Given the description of an element on the screen output the (x, y) to click on. 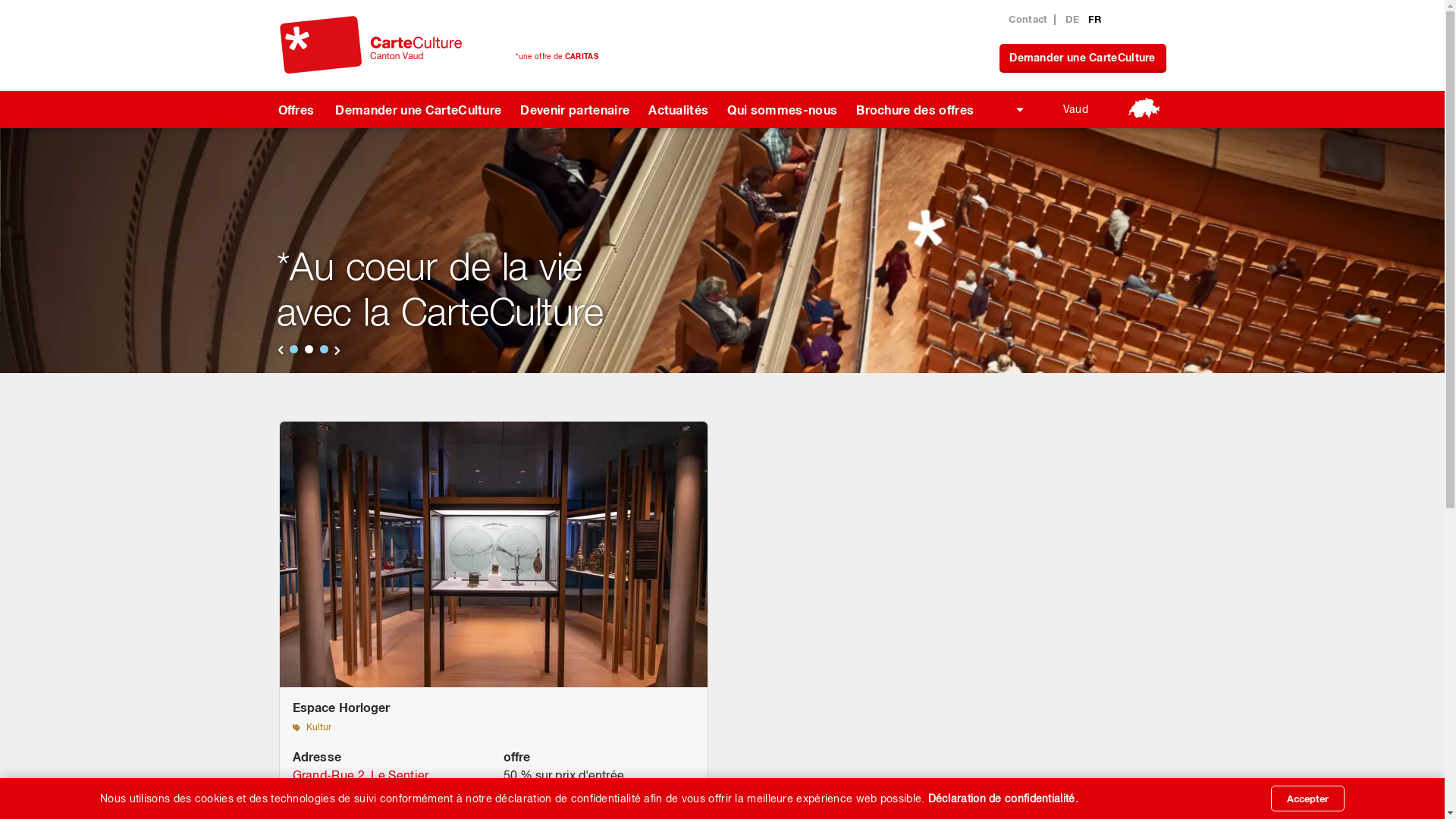
Brochure des offres Element type: text (912, 109)
Grand-Rue 2, Le Sentier Element type: text (360, 774)
Devenir partenaire Element type: text (572, 109)
Qui sommes-nous Element type: text (779, 109)
Accepter Element type: text (1307, 798)
Demander une CarteCulture Element type: text (1082, 56)
Contact Element type: text (1028, 18)
Vaud Element type: text (1084, 109)
*une offre de CARITAS Element type: text (556, 55)
DE Element type: text (1073, 18)
Offres Element type: text (293, 109)
Demander une CarteCulture Element type: text (415, 109)
FR Element type: text (1094, 18)
